Given the description of an element on the screen output the (x, y) to click on. 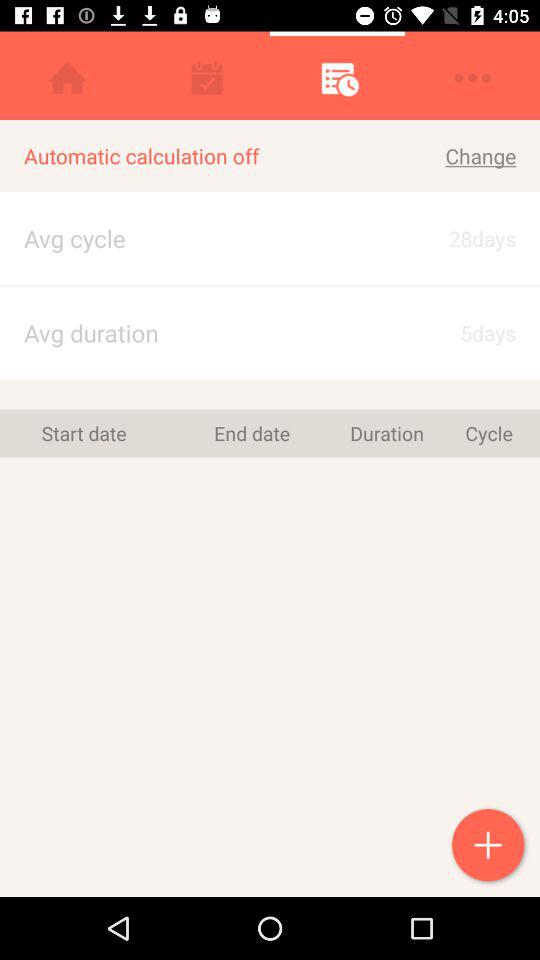
click the icon below the cycle icon (490, 847)
